Given the description of an element on the screen output the (x, y) to click on. 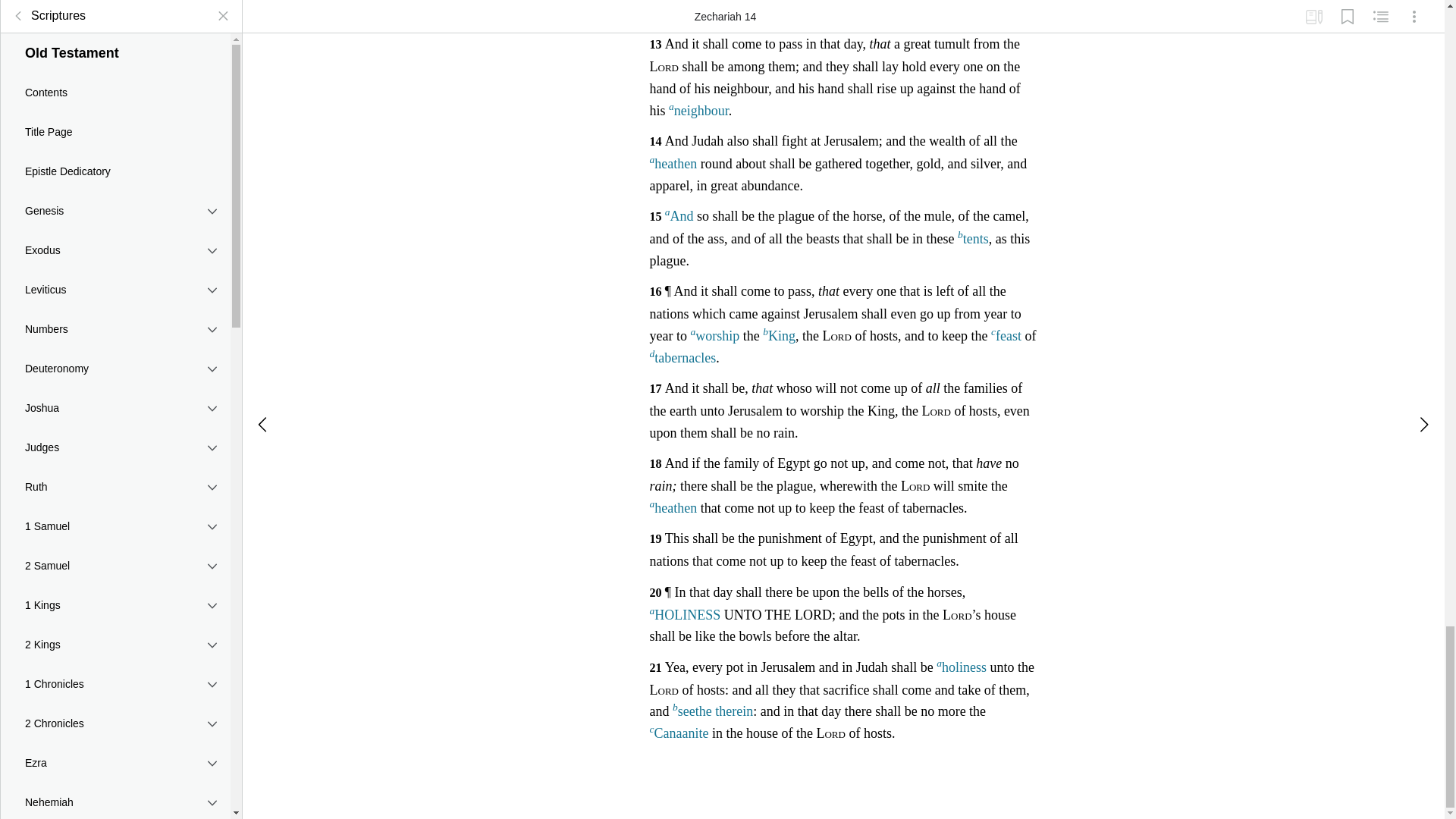
Jeremiah (115, 15)
Obadiah (115, 287)
Jonah (115, 326)
Micah (115, 365)
Lamentations (115, 50)
Nahum (115, 405)
Joel (115, 208)
Ezekiel (115, 89)
Daniel (115, 129)
Amos (115, 247)
Hosea (115, 169)
